Given the description of an element on the screen output the (x, y) to click on. 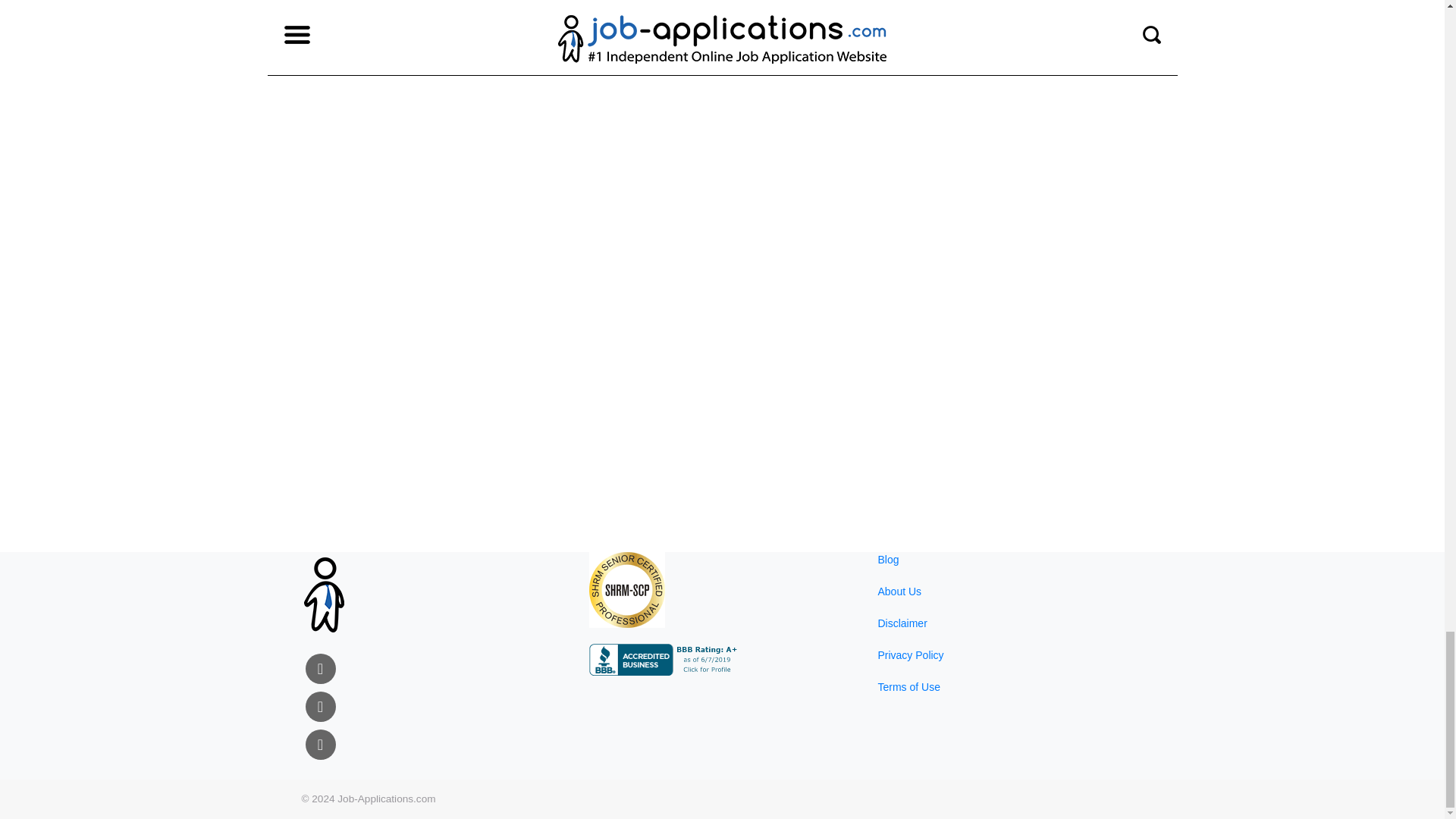
Blog (887, 559)
Advertisement (398, 195)
Disclaimer (901, 623)
Privacy Policy (910, 654)
Terms of Use (908, 686)
About Us (899, 591)
Job-Applications.com (386, 798)
